Given the description of an element on the screen output the (x, y) to click on. 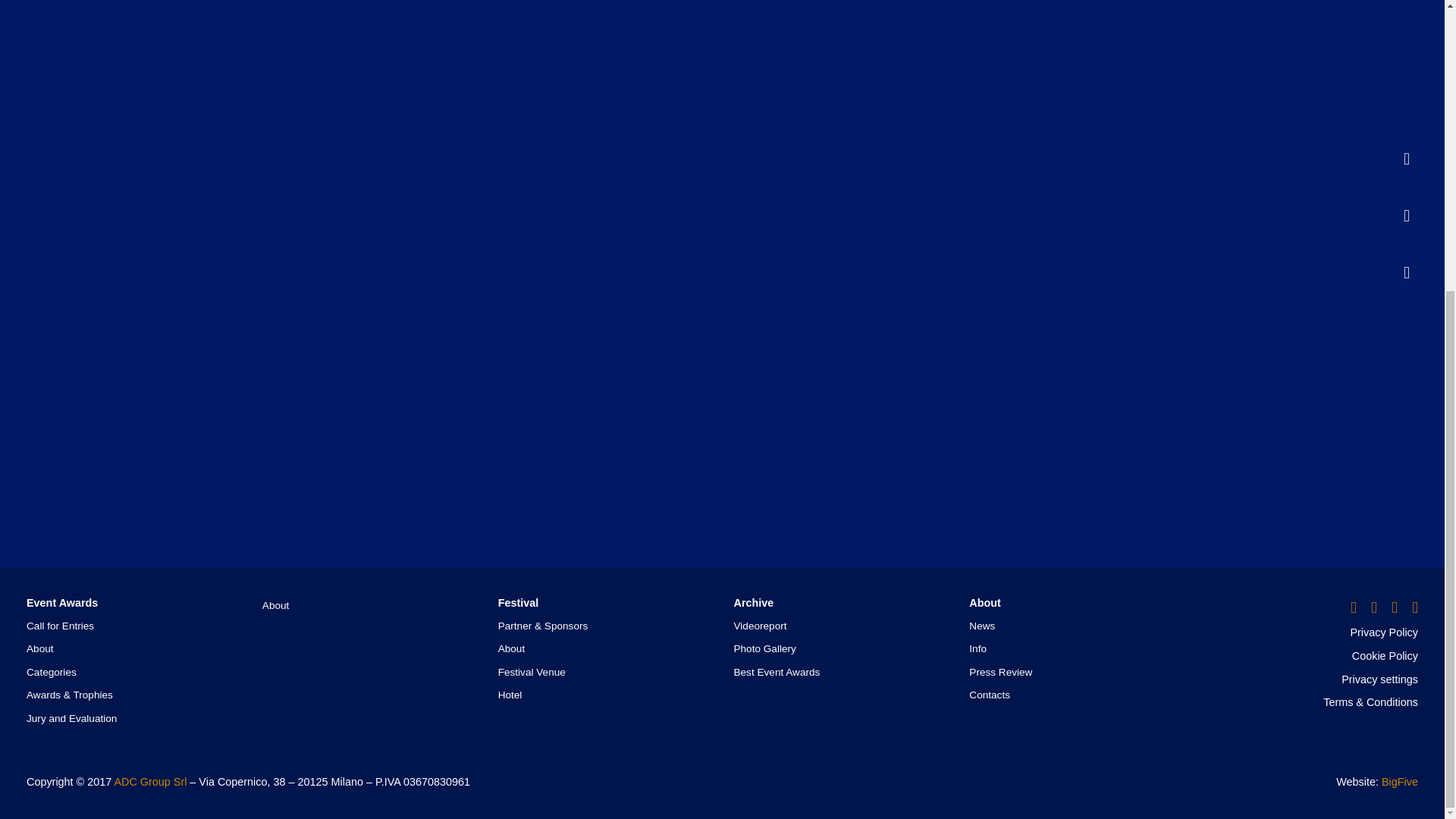
Event Awards (61, 603)
About (39, 648)
Call for Entries (60, 625)
Categories (51, 672)
